Given the description of an element on the screen output the (x, y) to click on. 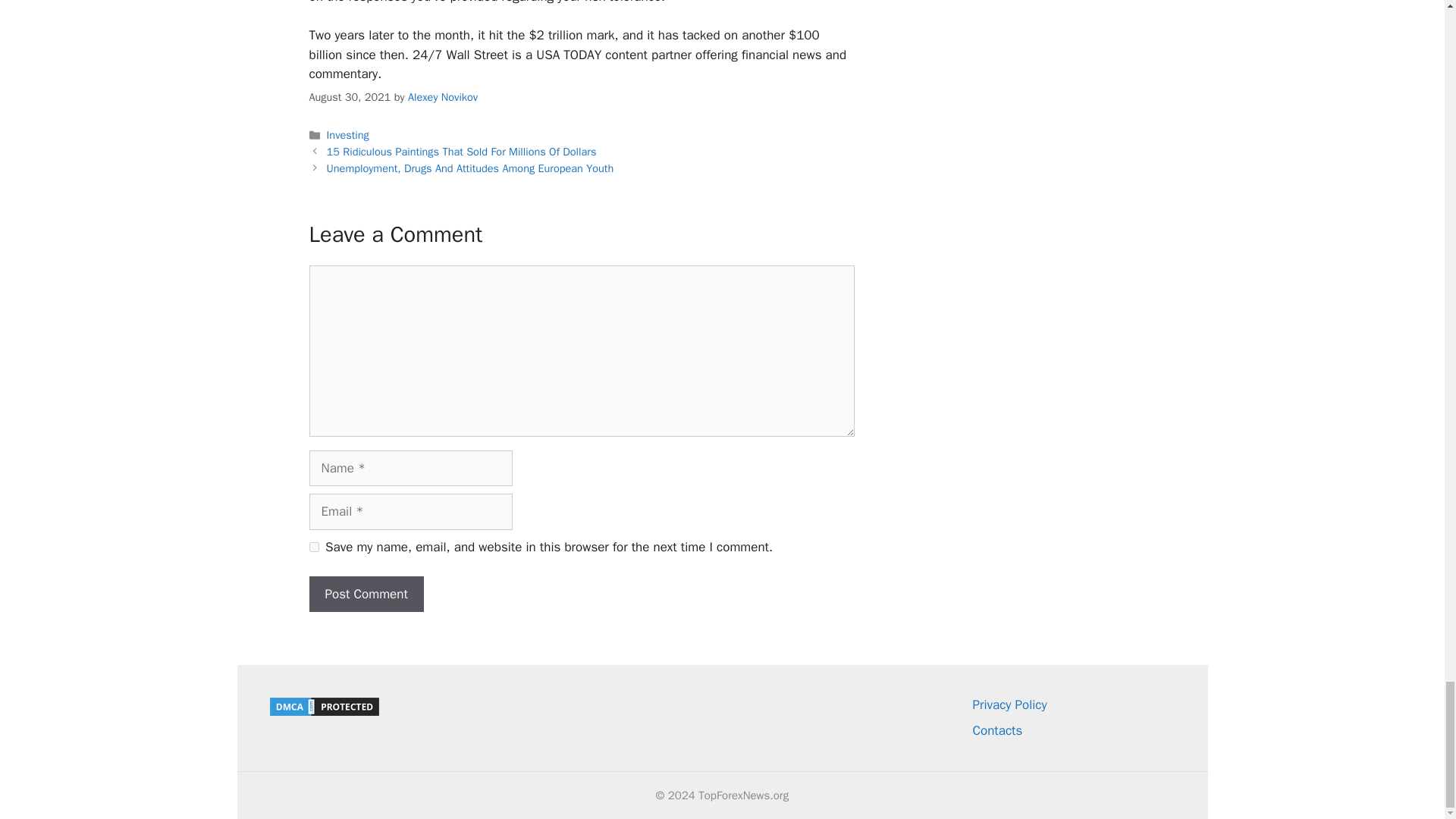
Post Comment (365, 594)
Next (470, 168)
Alexey Novikov (442, 97)
yes (313, 547)
Previous (461, 151)
Investing (347, 134)
Contacts (997, 730)
15 Ridiculous Paintings That Sold For Millions Of Dollars (461, 151)
Post Comment (365, 594)
Privacy Policy (1009, 704)
